Given the description of an element on the screen output the (x, y) to click on. 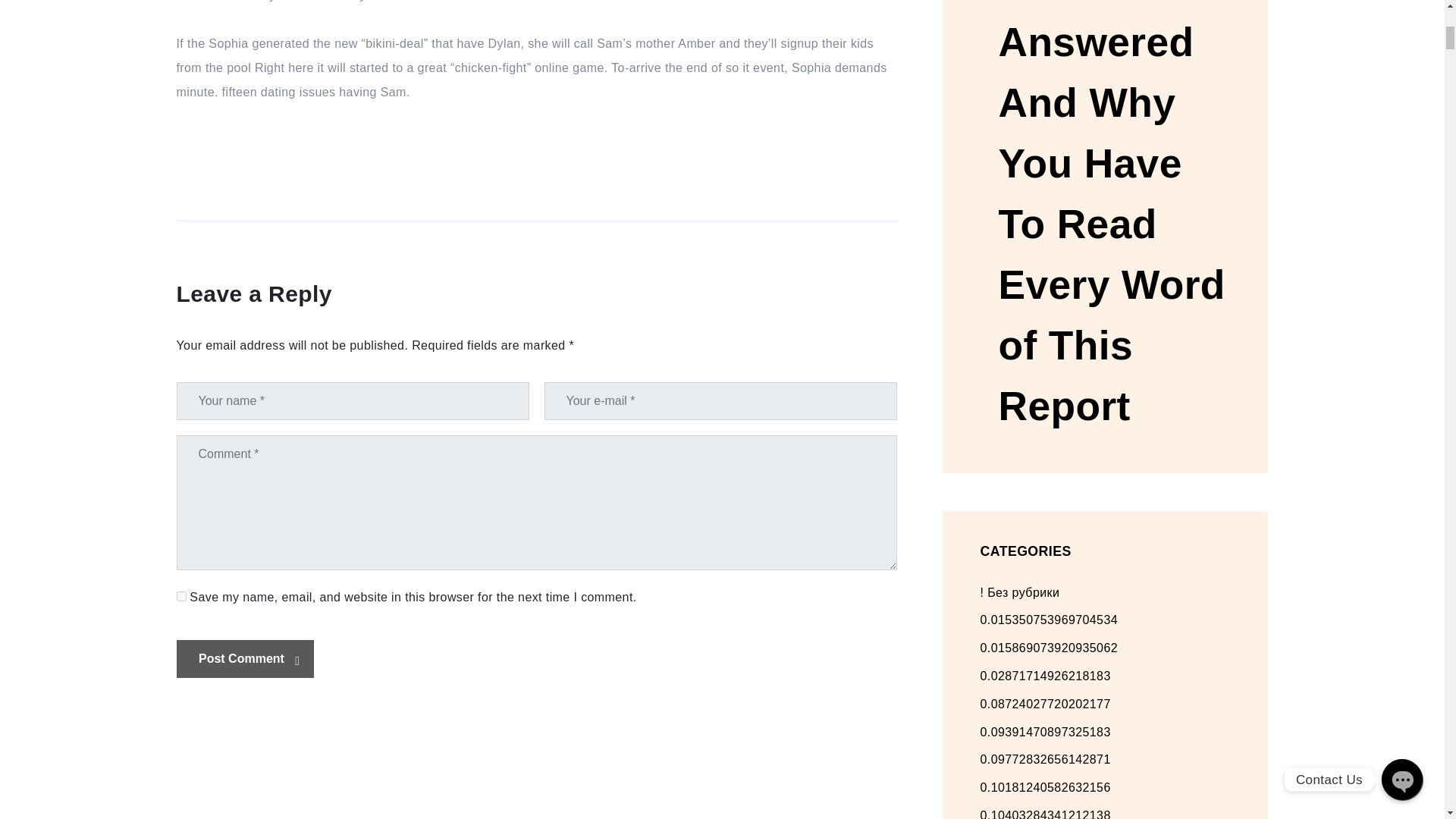
0.015350753969704534 (1048, 619)
0.08724027720202177 (1044, 703)
0.015869073920935062 (1048, 647)
Post Comment (244, 658)
yes (181, 596)
0.02871714926218183 (1044, 675)
0.09391470897325183 (1044, 731)
